Given the description of an element on the screen output the (x, y) to click on. 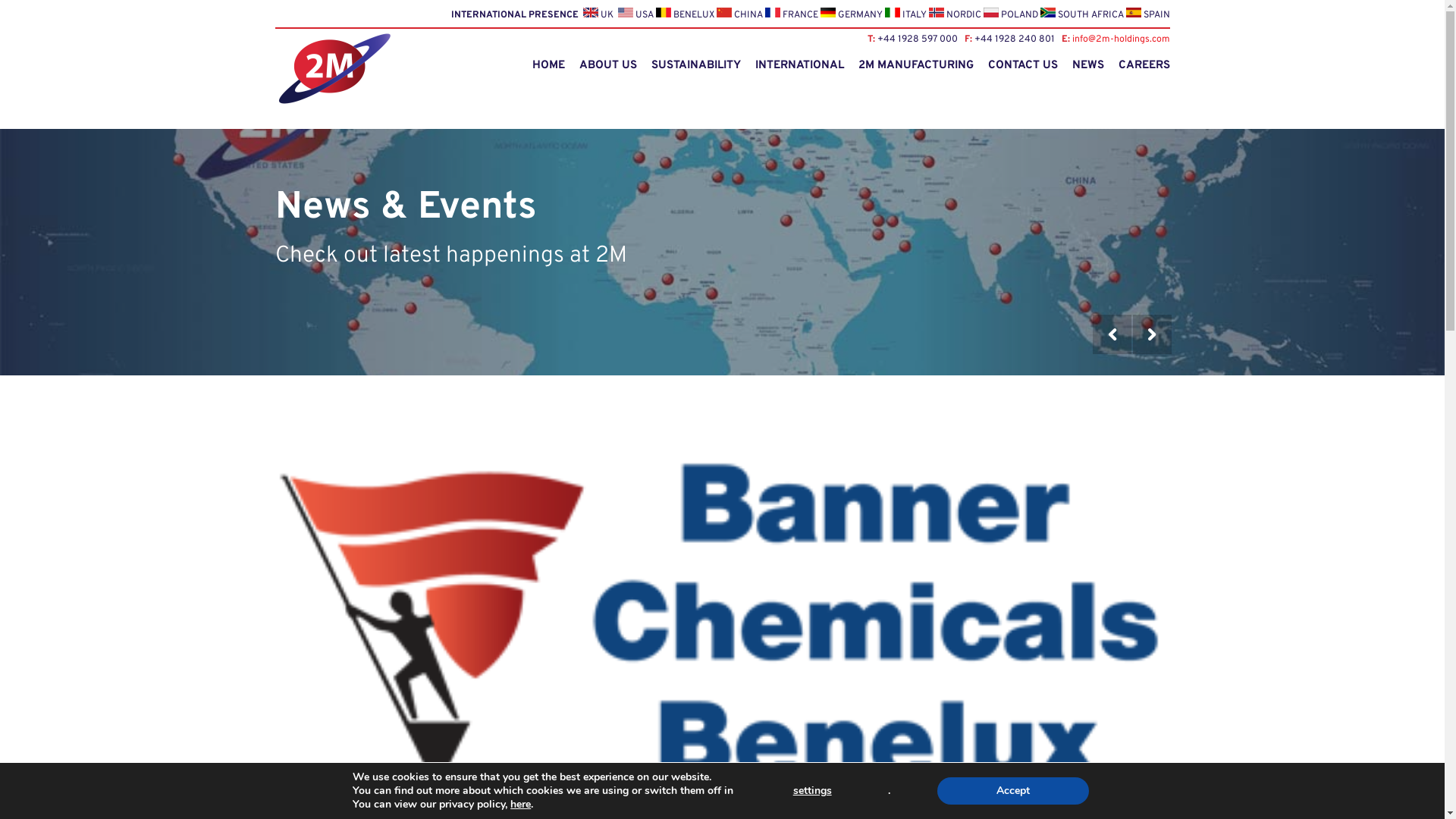
2M MANUFACTURING Element type: text (915, 65)
2M Group of Companies Element type: hover (332, 39)
NEWS Element type: text (1088, 65)
HOME Element type: text (548, 65)
SUSTAINABILITY Element type: text (695, 65)
here Element type: text (520, 804)
INTERNATIONAL Element type: text (799, 65)
CAREERS Element type: text (1143, 65)
ABOUT US Element type: text (608, 65)
settings Element type: text (812, 790)
Accept Element type: text (1012, 790)
CONTACT US Element type: text (1022, 65)
info@2m-holdings.com Element type: text (1121, 39)
